Given the description of an element on the screen output the (x, y) to click on. 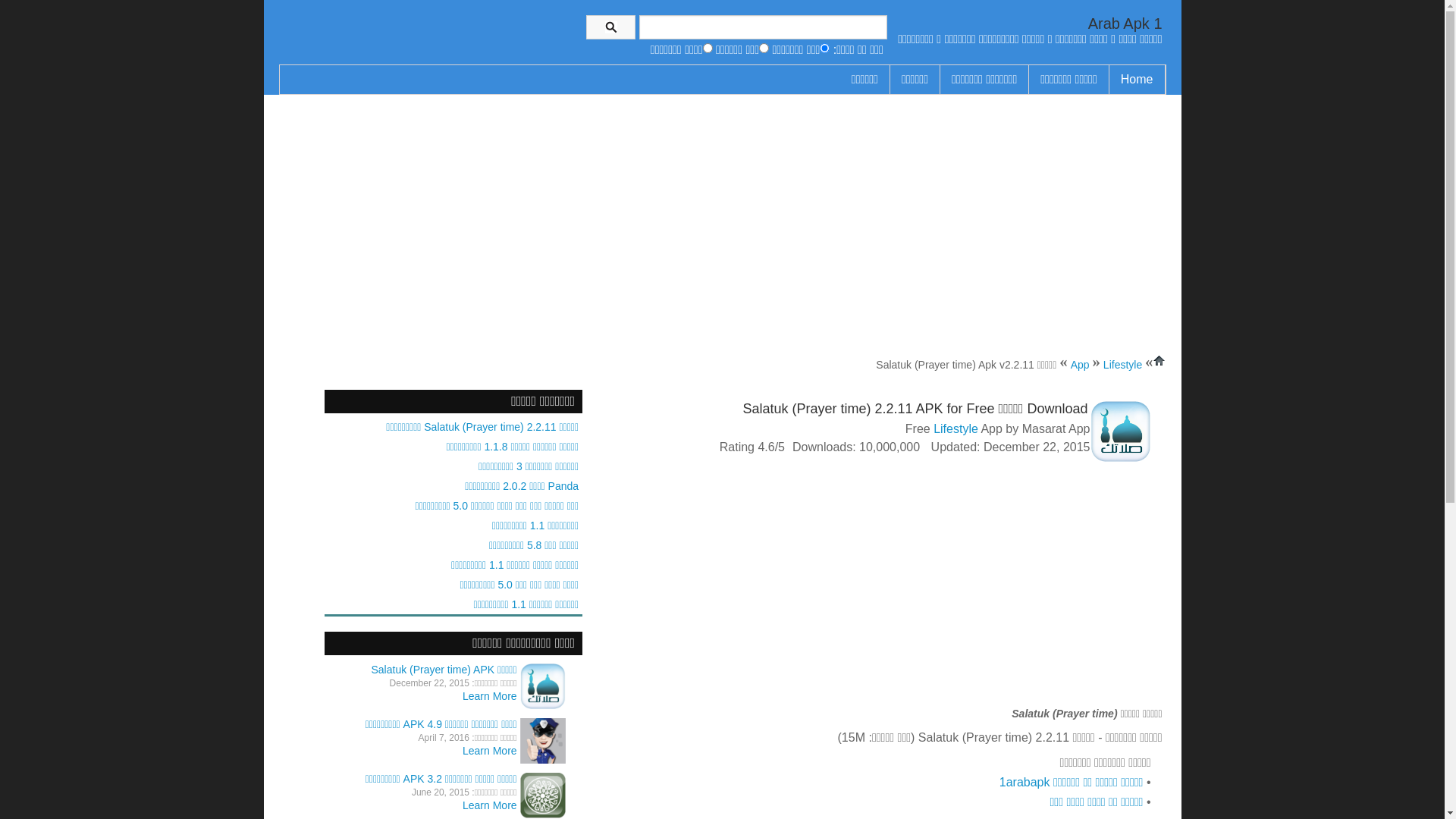
Advertisement Element type: hover (722, 231)
Search Android Apk Files Element type: hover (763, 27)
Learn More Element type: text (489, 805)
Lifestyle Element type: text (955, 428)
App Element type: text (1107, 364)
Search Element type: text (610, 27)
Learn More Element type: text (489, 696)
Lifestyle Element type: text (1121, 364)
1 Arab Apk Element type: text (1125, 23)
Advertisement Element type: hover (1024, 588)
Learn More Element type: text (489, 750)
Home Element type: text (1137, 79)
